Given the description of an element on the screen output the (x, y) to click on. 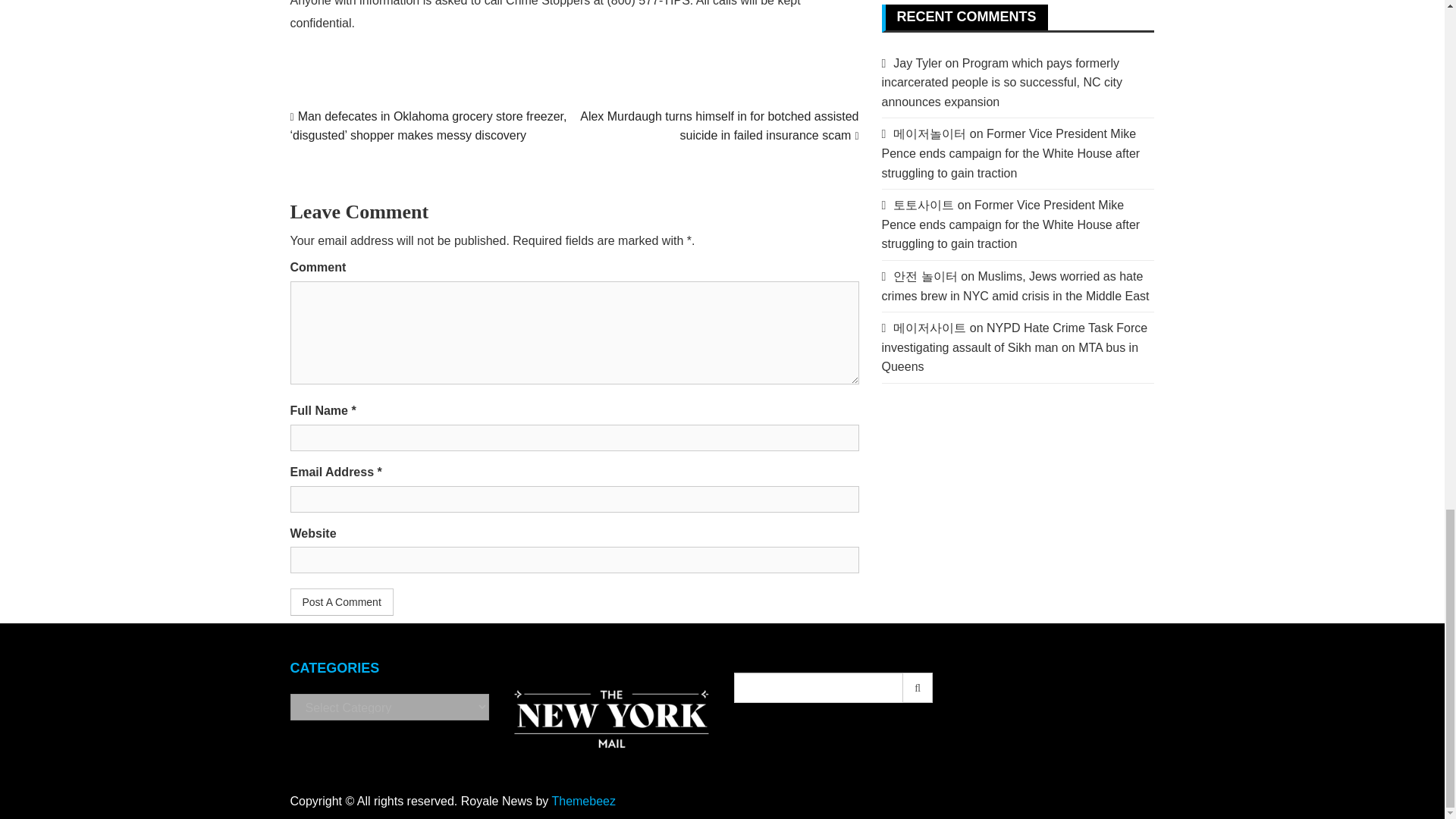
Post A Comment (341, 601)
Post A Comment (341, 601)
Jay Tyler (917, 62)
